Given the description of an element on the screen output the (x, y) to click on. 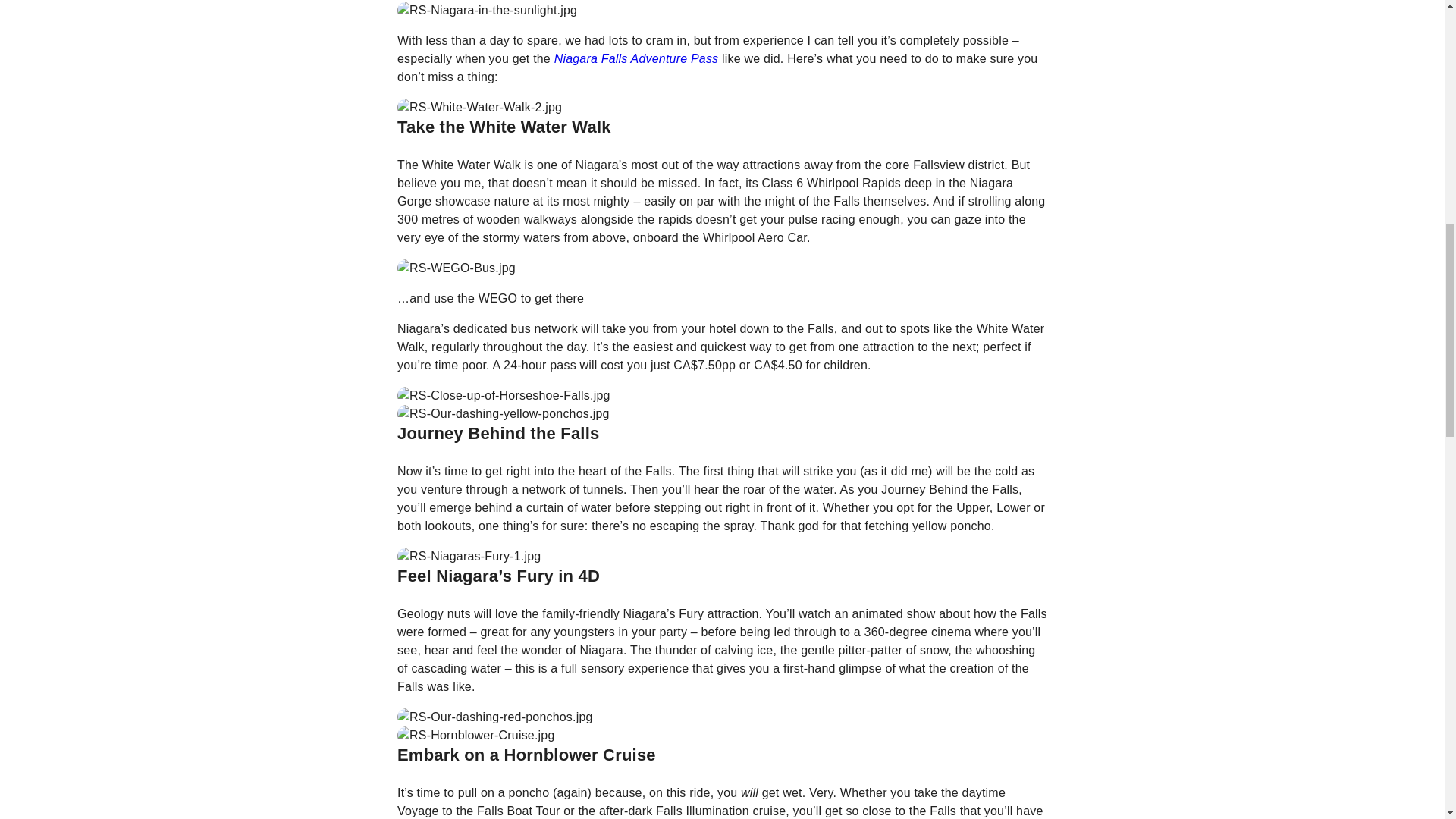
Niagara Falls Adventure Pass (636, 58)
